Given the description of an element on the screen output the (x, y) to click on. 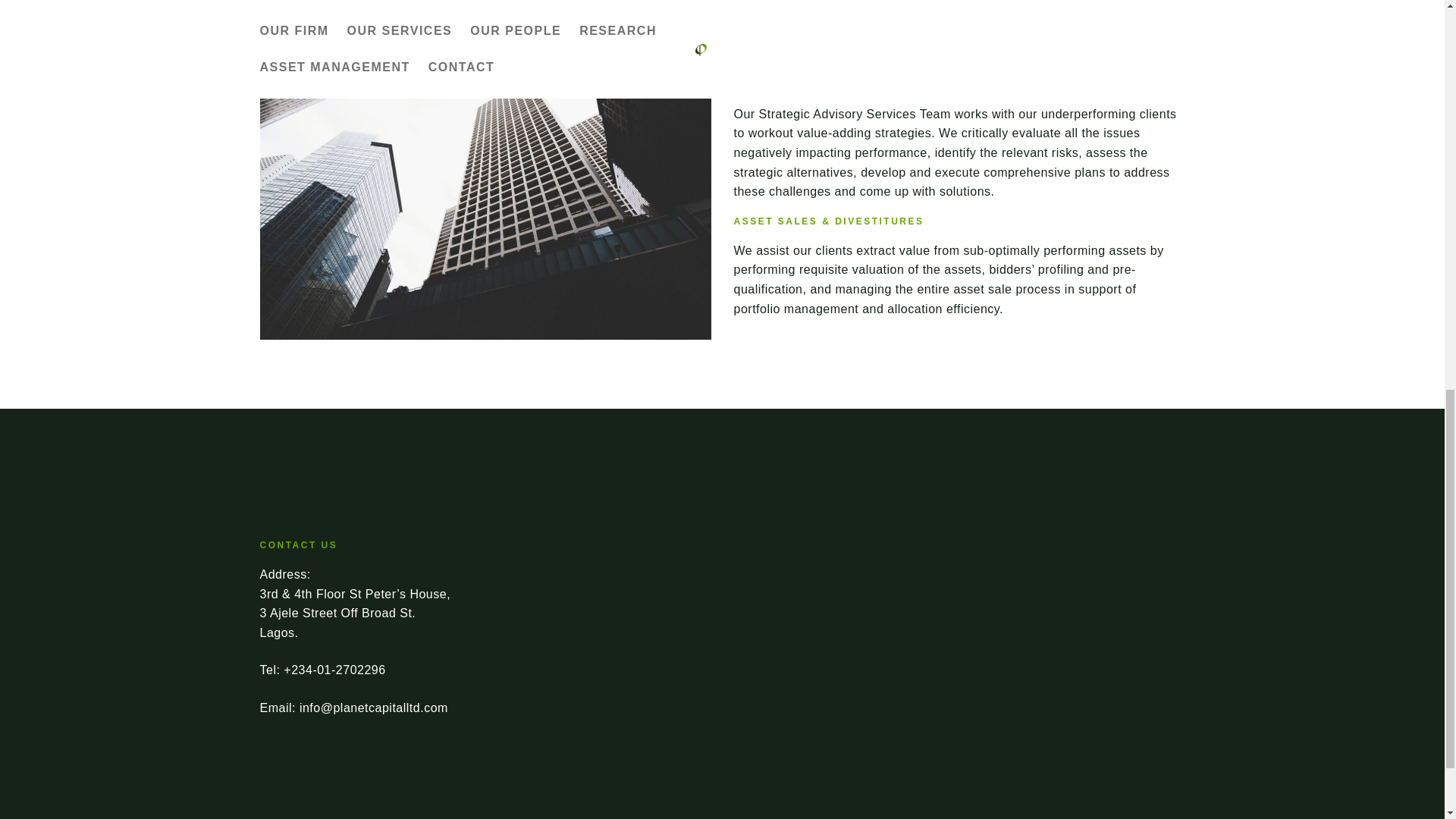
CONTACT US (298, 544)
